Given the description of an element on the screen output the (x, y) to click on. 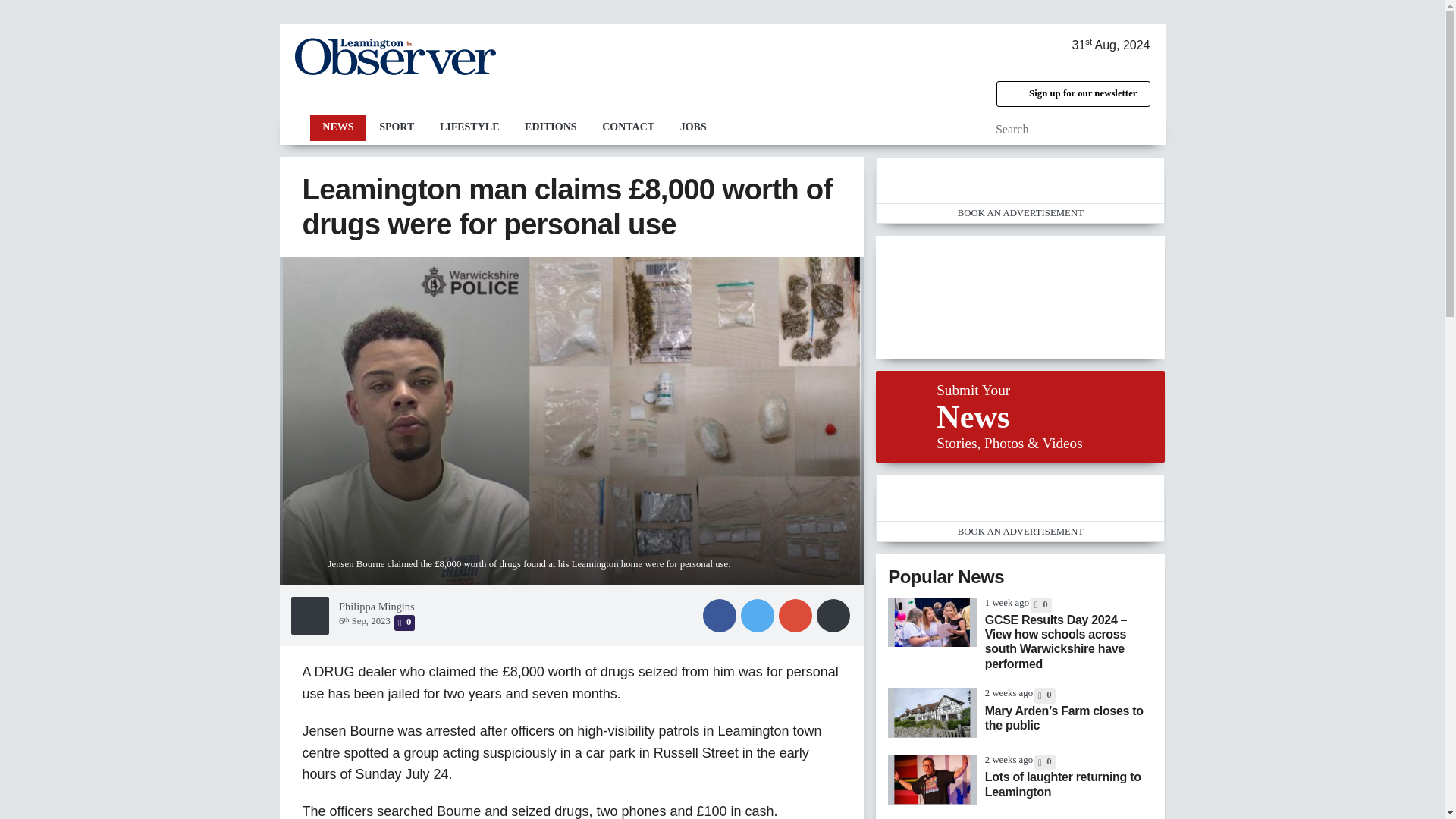
Philippa Mingins (376, 606)
LIFESTYLE (469, 127)
EDITIONS (550, 127)
NEWS (337, 127)
CONTACT (627, 127)
  Sign up for our newsletter (1072, 94)
The Leamington Observer (394, 55)
SPORT (396, 127)
JOBS (692, 127)
